Given the description of an element on the screen output the (x, y) to click on. 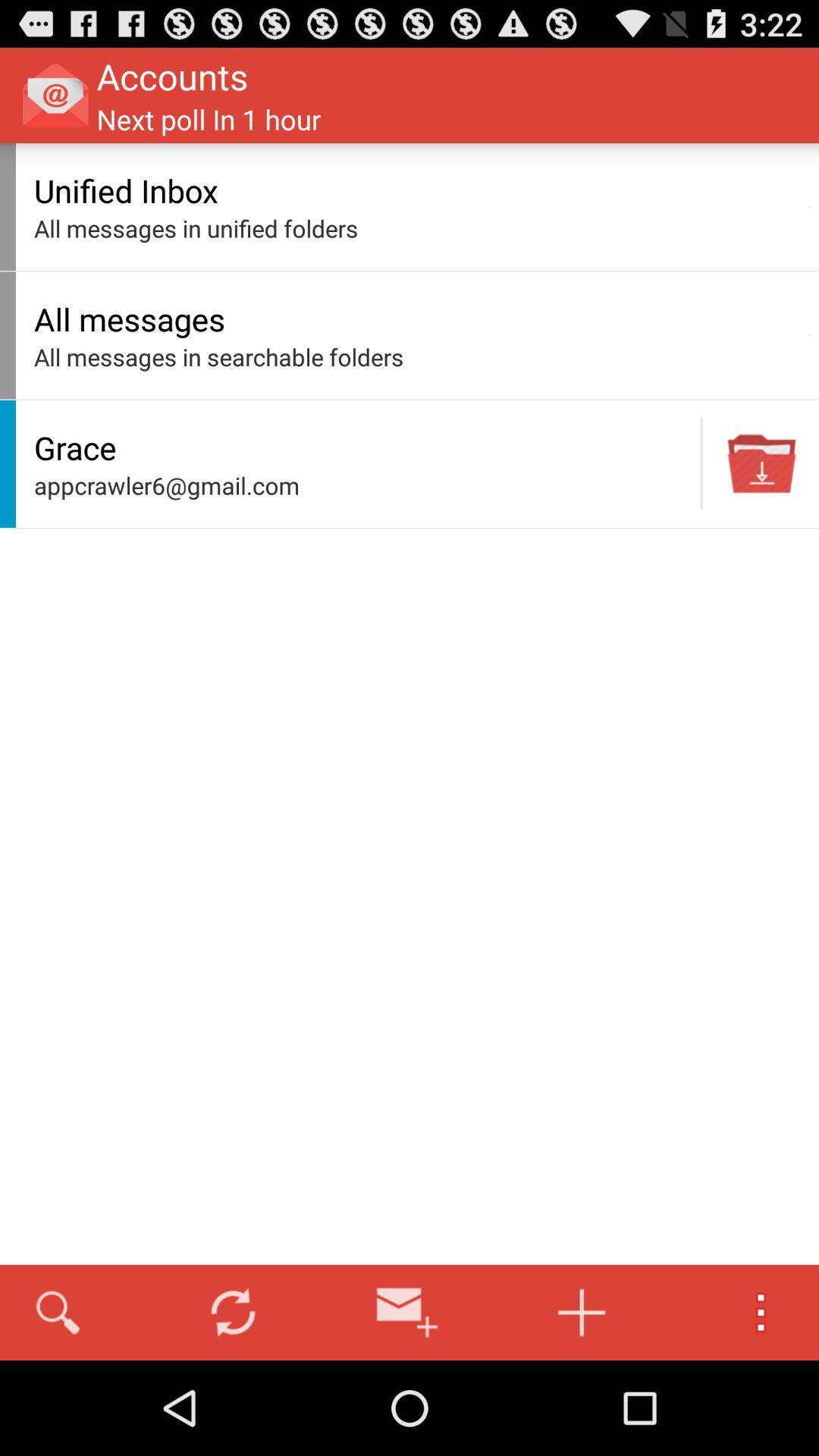
launch icon below the all messages in (363, 447)
